Given the description of an element on the screen output the (x, y) to click on. 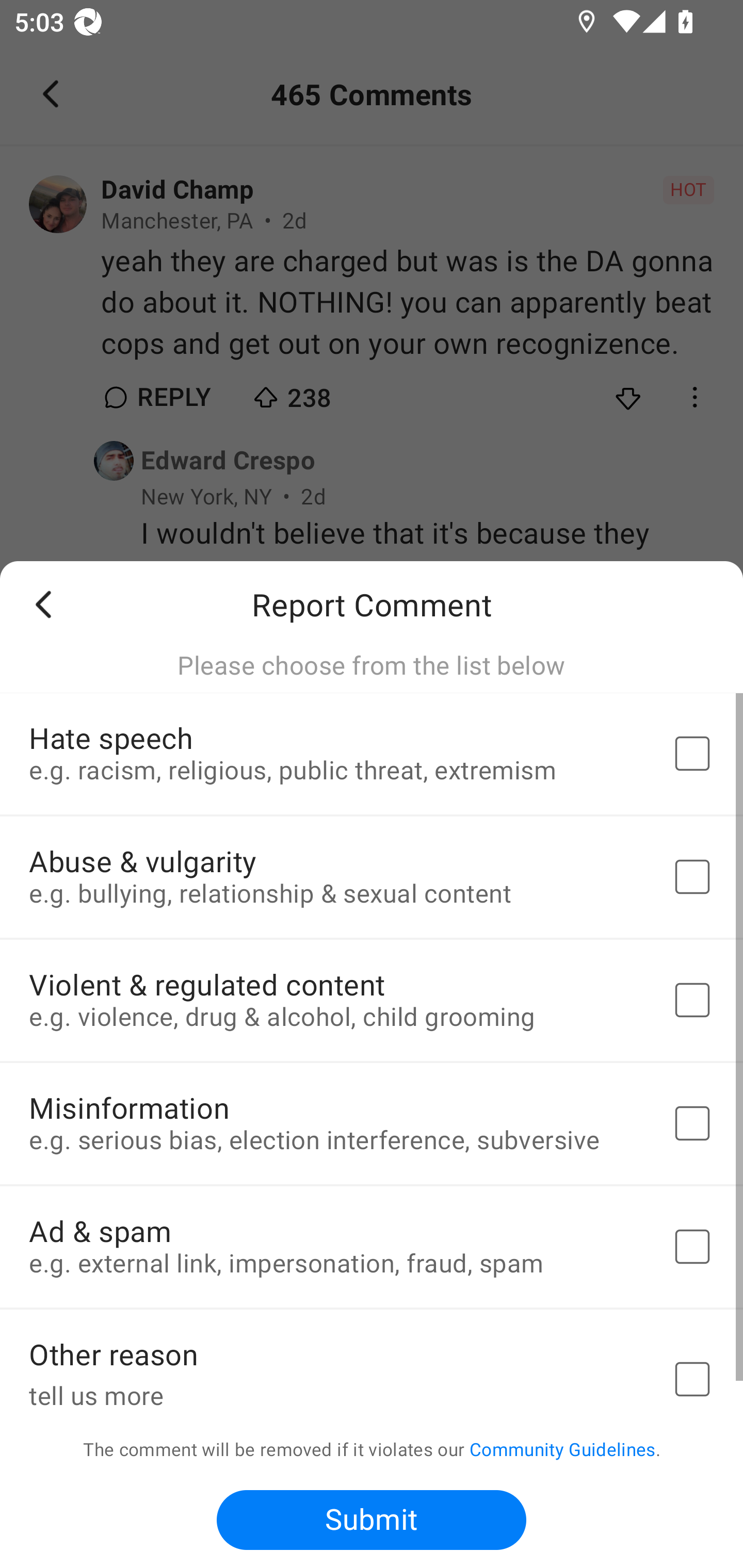
Other reason tell us more (371, 1362)
tell us more (334, 1393)
Submit (371, 1519)
